Given the description of an element on the screen output the (x, y) to click on. 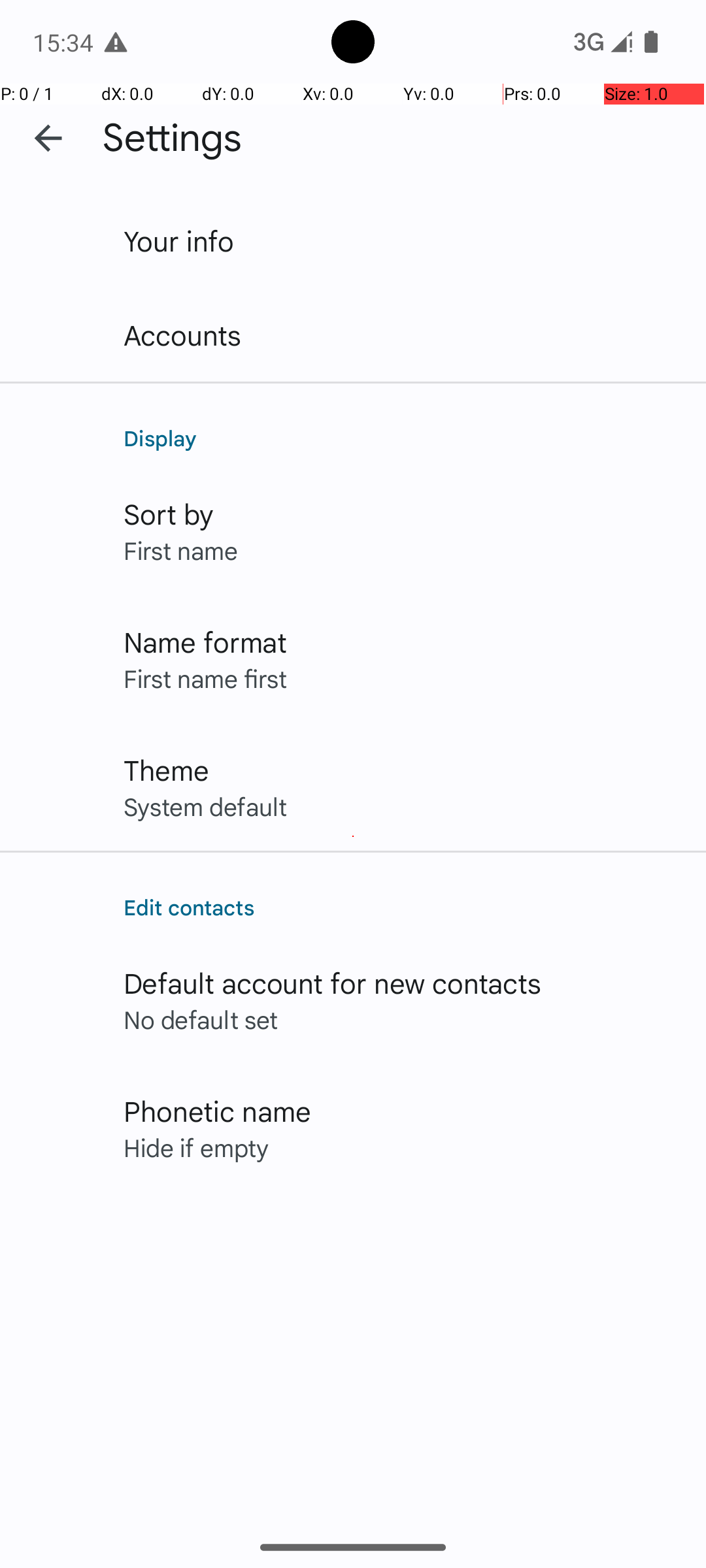
Your info Element type: android.widget.TextView (178, 240)
Accounts Element type: android.widget.TextView (182, 334)
Display Element type: android.widget.TextView (400, 437)
Sort by Element type: android.widget.TextView (168, 513)
First name Element type: android.widget.TextView (180, 550)
Name format Element type: android.widget.TextView (205, 641)
First name first Element type: android.widget.TextView (204, 678)
Theme Element type: android.widget.TextView (166, 769)
System default Element type: android.widget.TextView (204, 806)
Edit contacts Element type: android.widget.TextView (400, 906)
Default account for new contacts Element type: android.widget.TextView (332, 982)
No default set Element type: android.widget.TextView (200, 1019)
Phonetic name Element type: android.widget.TextView (217, 1110)
Hide if empty Element type: android.widget.TextView (196, 1147)
